Given the description of an element on the screen output the (x, y) to click on. 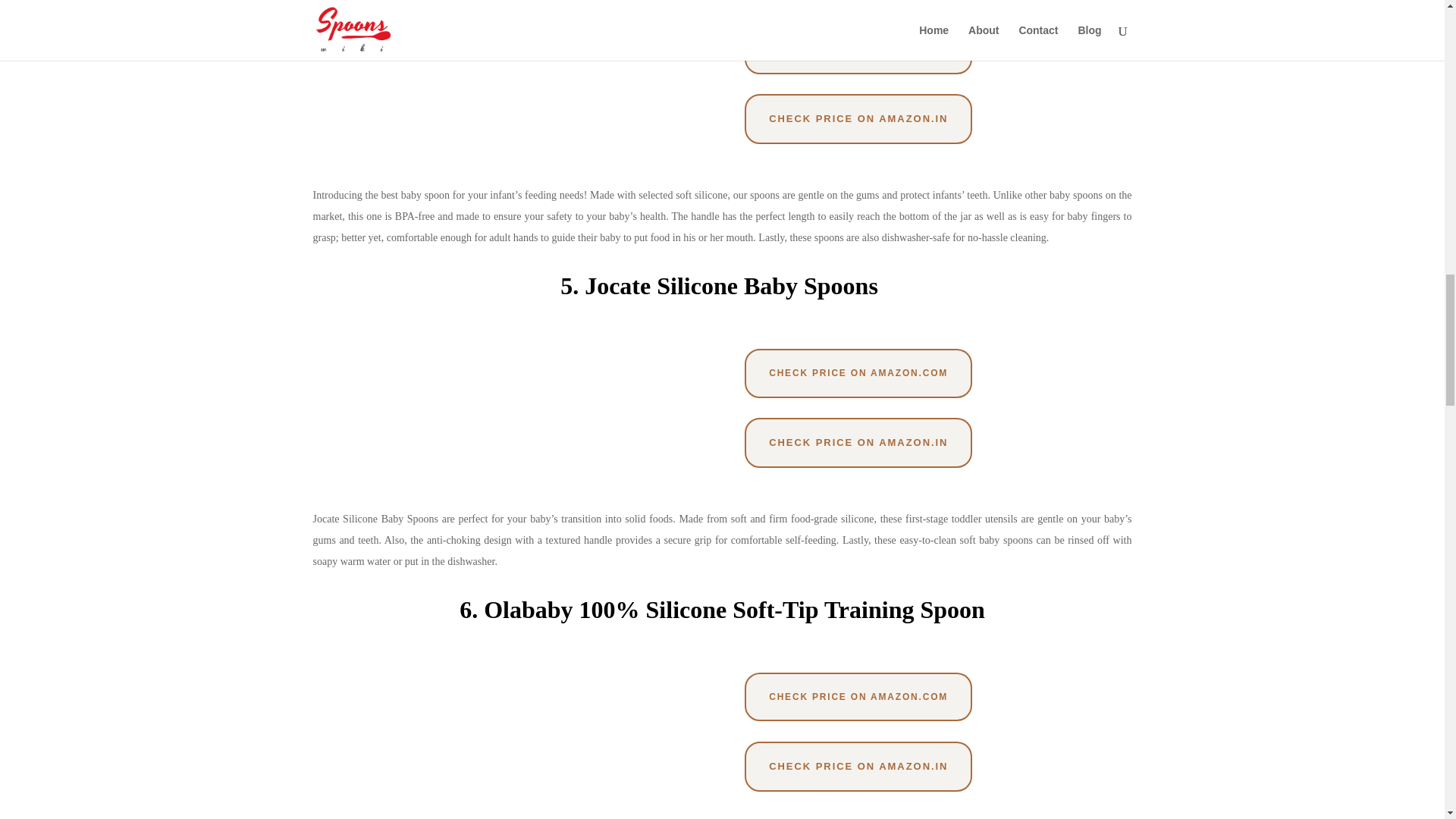
CHECK PRICE ON AMAZON.COM (858, 372)
CHECK PRICE ON AMAZON.IN (858, 766)
CHECK PRICE ON AMAZON.IN (858, 119)
CHECK PRICE ON AMAZON.IN (858, 442)
CHECK PRICE ON AMAZON.COM (858, 696)
CHECK PRICE ON AMAZON.COM (858, 49)
